Given the description of an element on the screen output the (x, y) to click on. 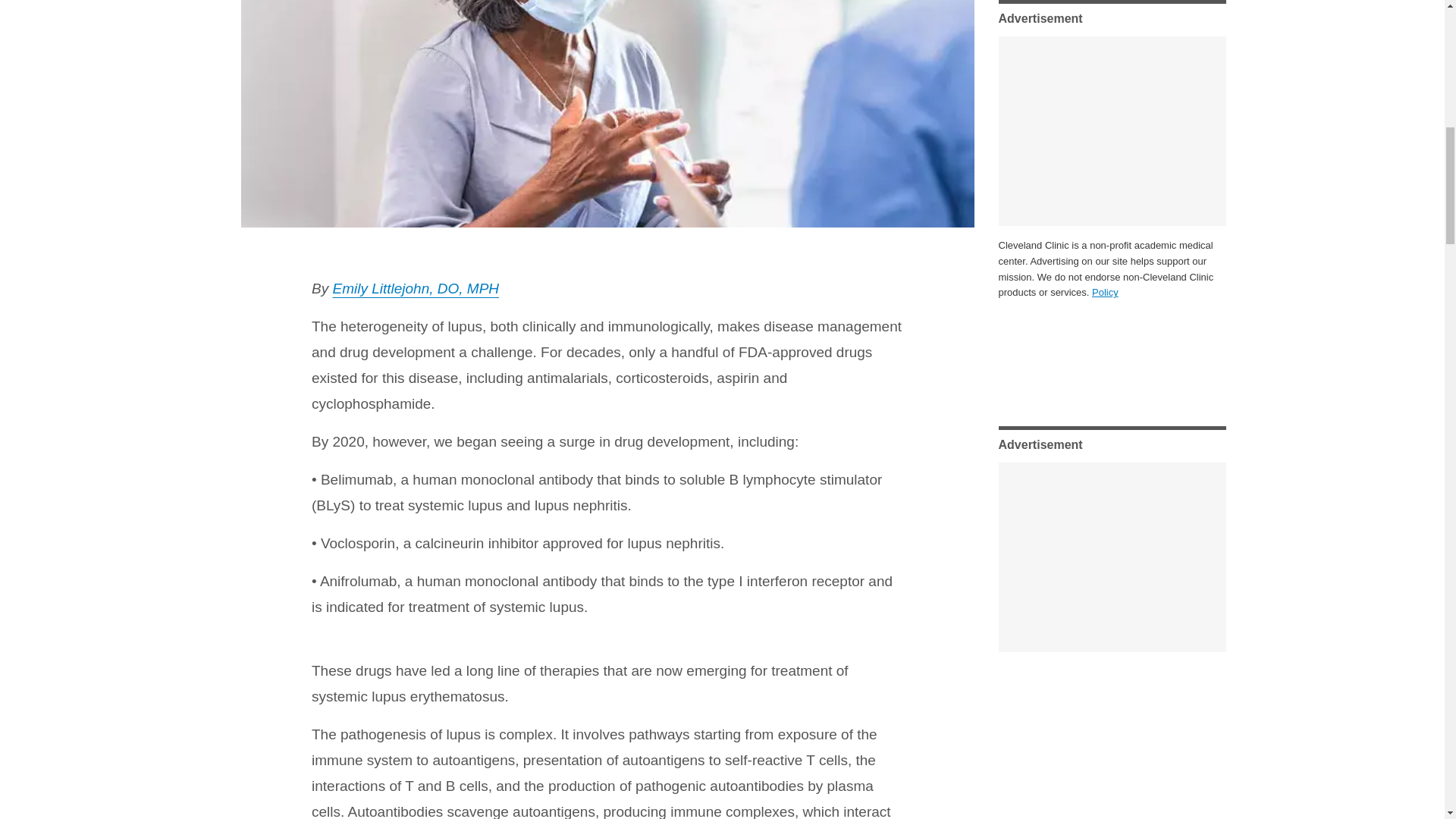
Emily Littlejohn, DO, MPH (415, 288)
